Given the description of an element on the screen output the (x, y) to click on. 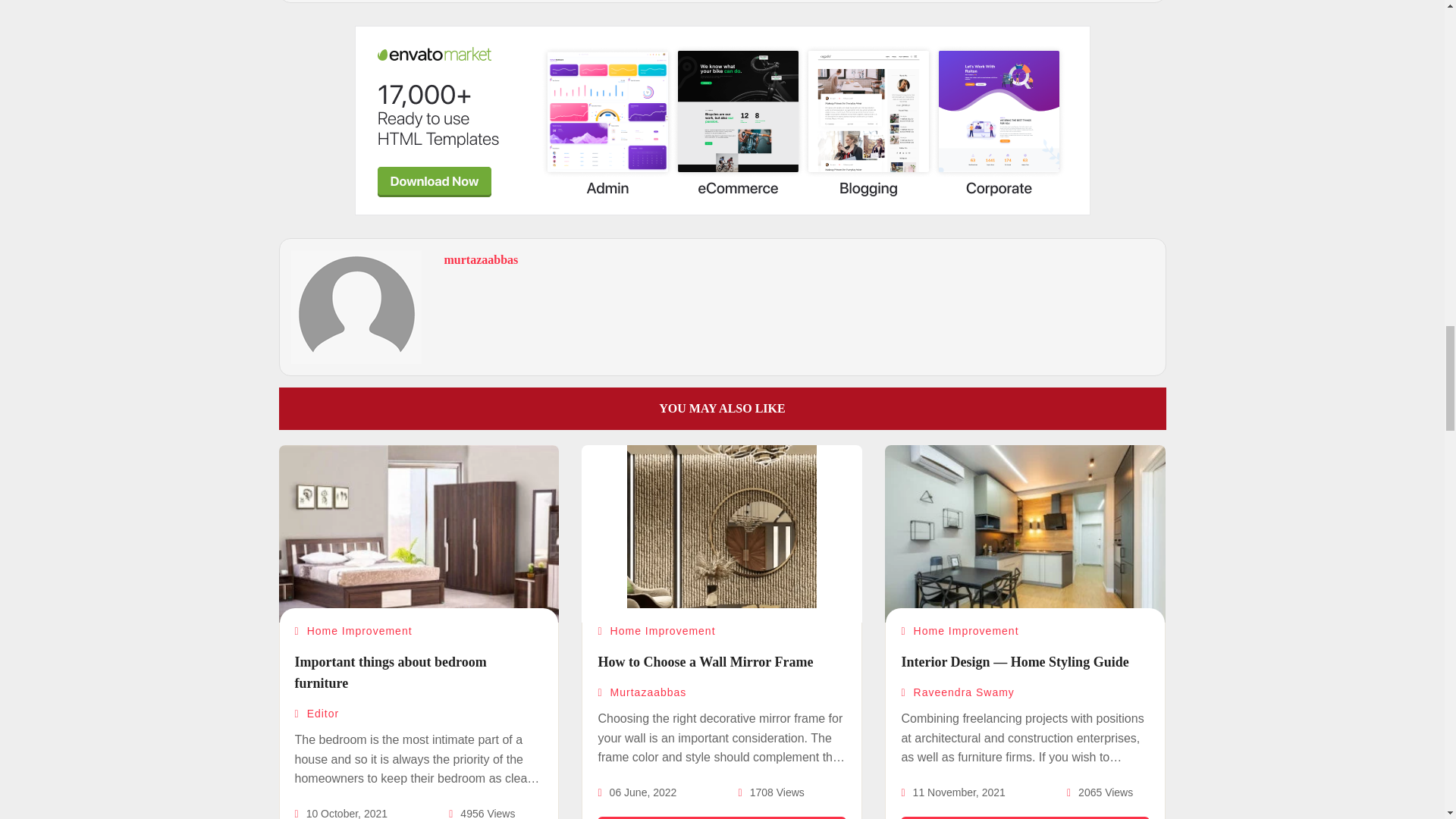
Important things about bedroom furniture (390, 672)
Home Improvement (353, 630)
murtazaabbas (481, 259)
